Given the description of an element on the screen output the (x, y) to click on. 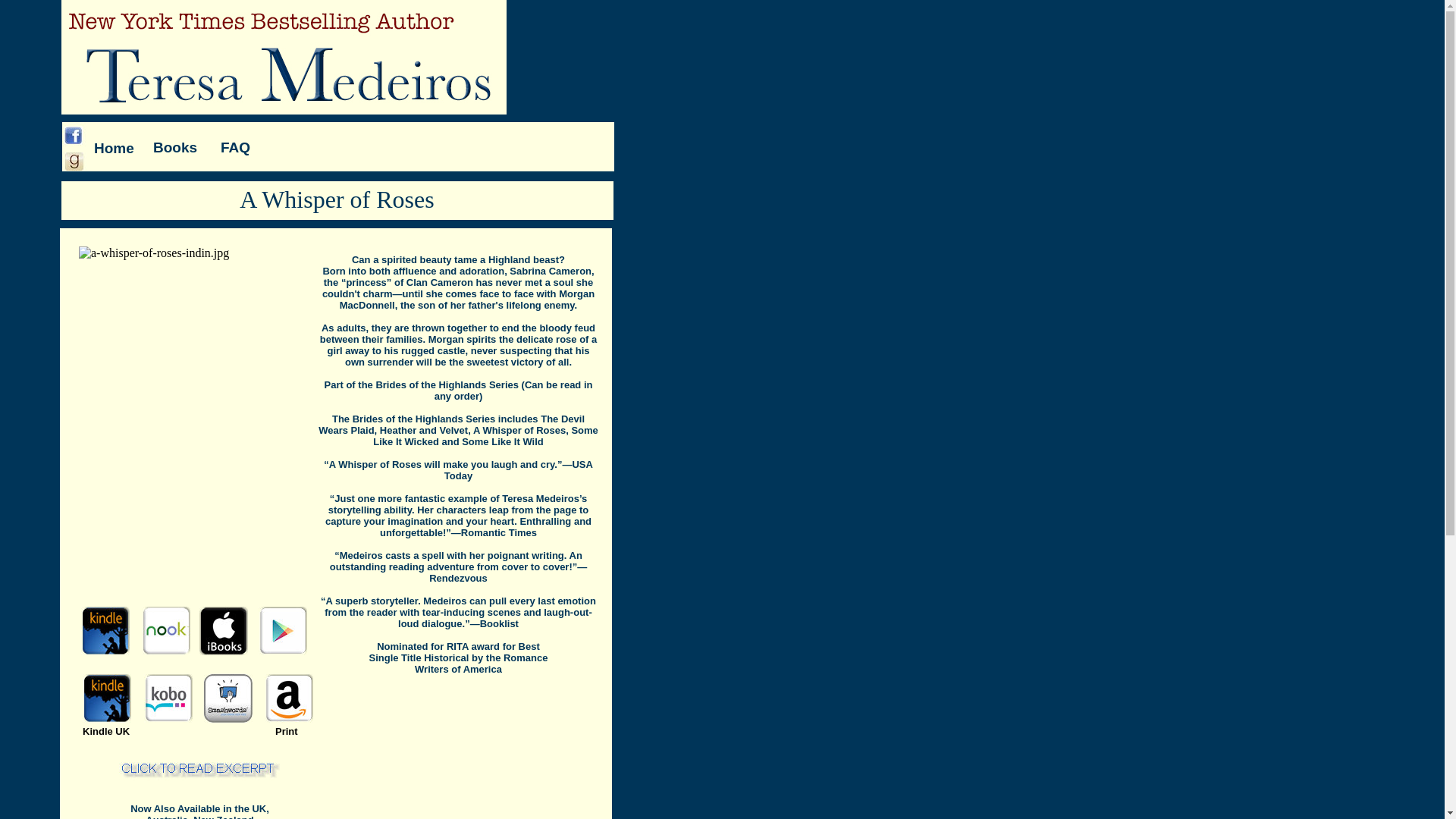
Books (174, 147)
Home (113, 148)
FAQ (235, 147)
